Given the description of an element on the screen output the (x, y) to click on. 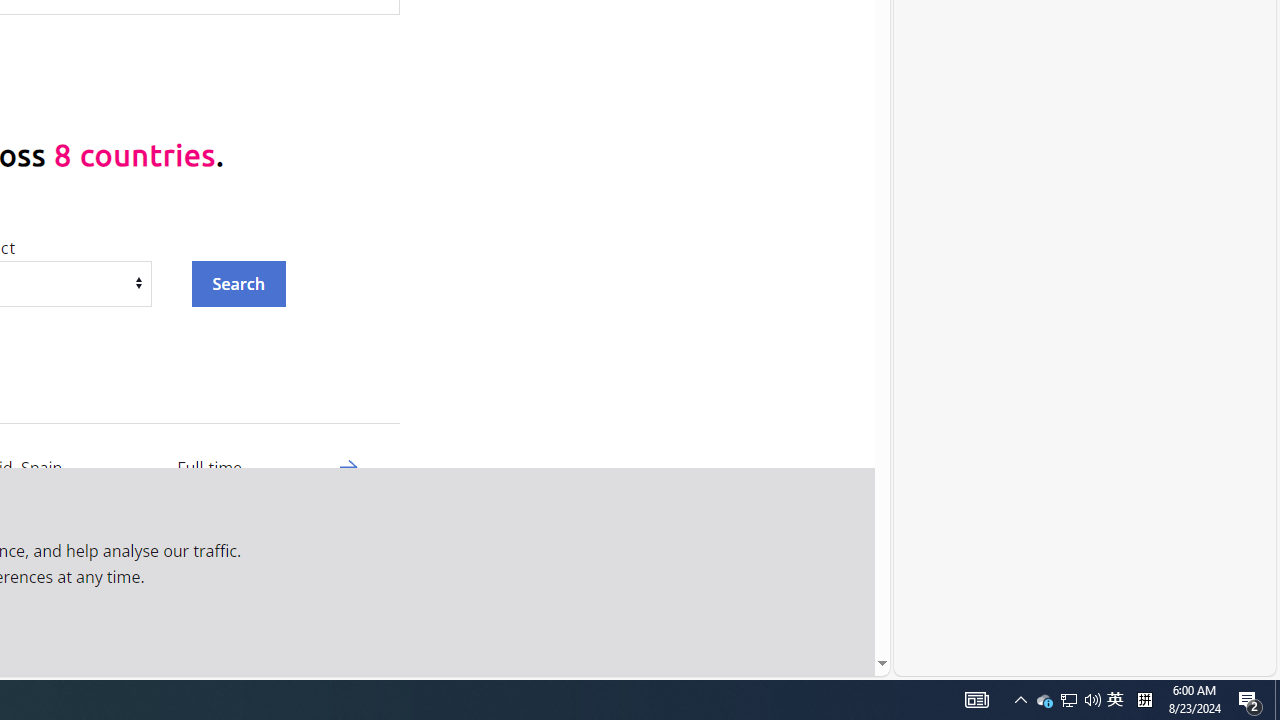
Read full details about role: Full Stack Engineer (347, 645)
Search (237, 283)
